Given the description of an element on the screen output the (x, y) to click on. 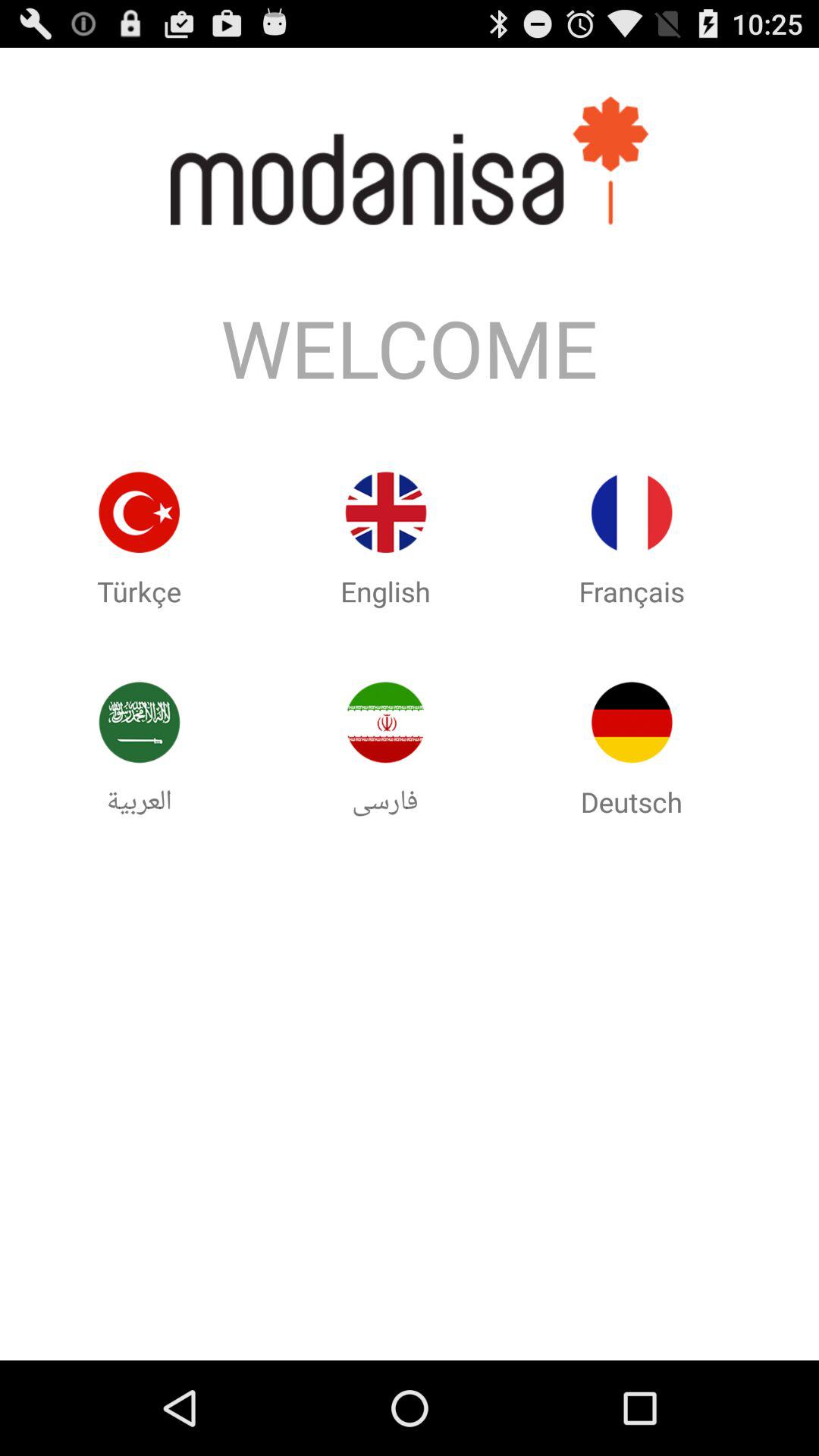
choose language (631, 722)
